Given the description of an element on the screen output the (x, y) to click on. 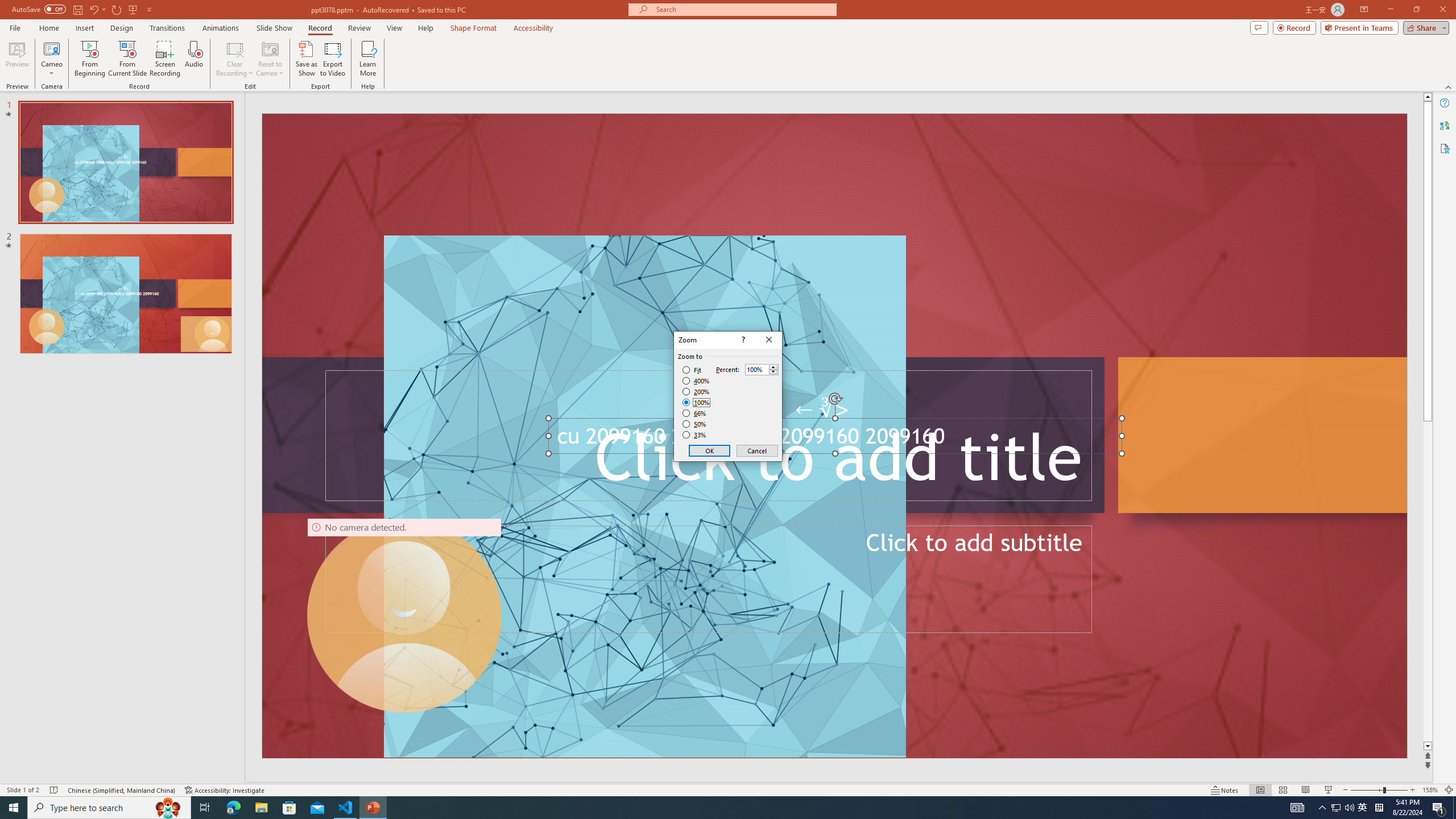
Percent (756, 369)
TextBox 7 (822, 409)
100% (696, 402)
50% (694, 424)
